Given the description of an element on the screen output the (x, y) to click on. 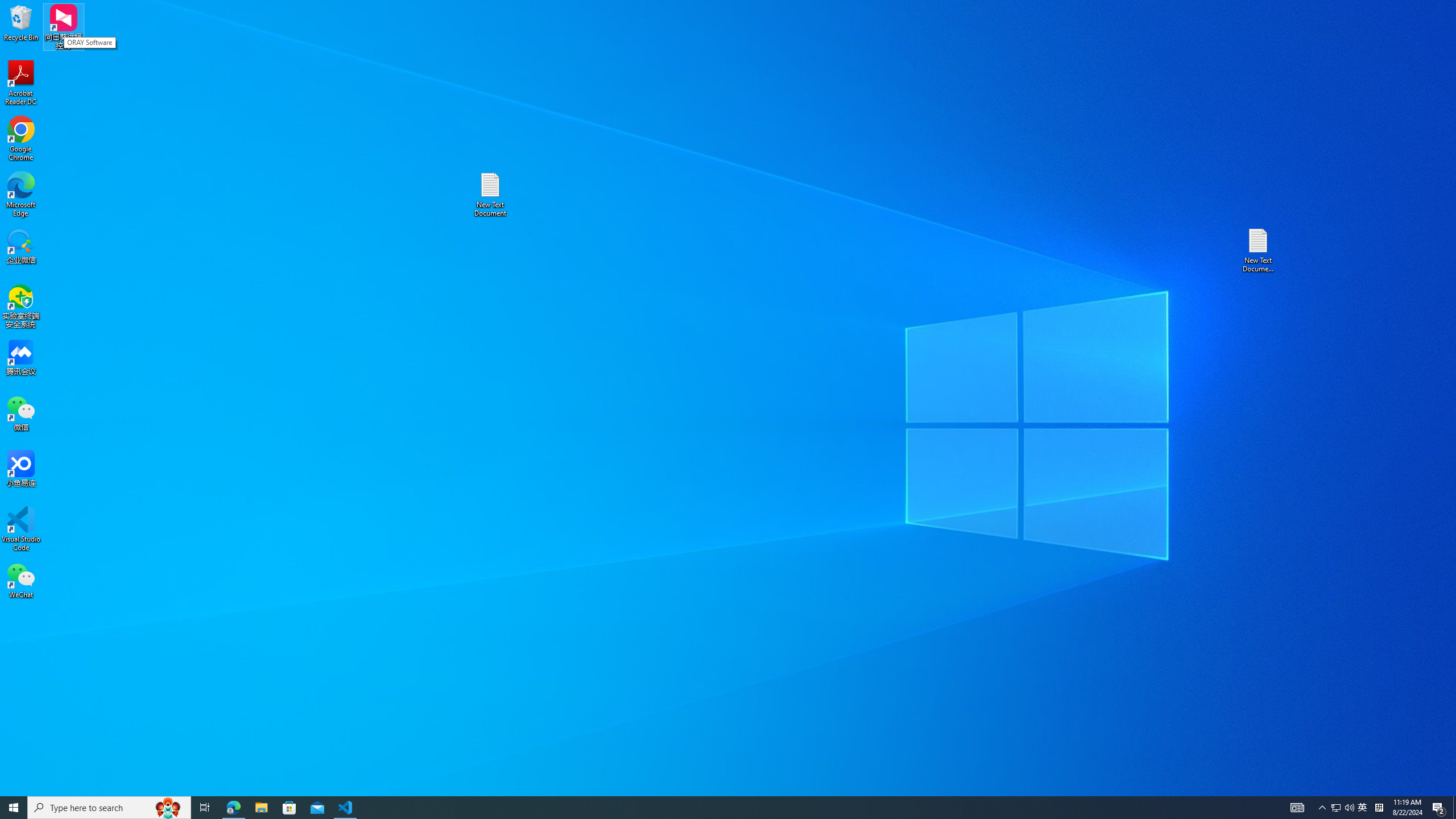
Running applications (707, 807)
New Text Document (489, 194)
Visual Studio Code (21, 528)
Acrobat Reader DC (21, 82)
